Given the description of an element on the screen output the (x, y) to click on. 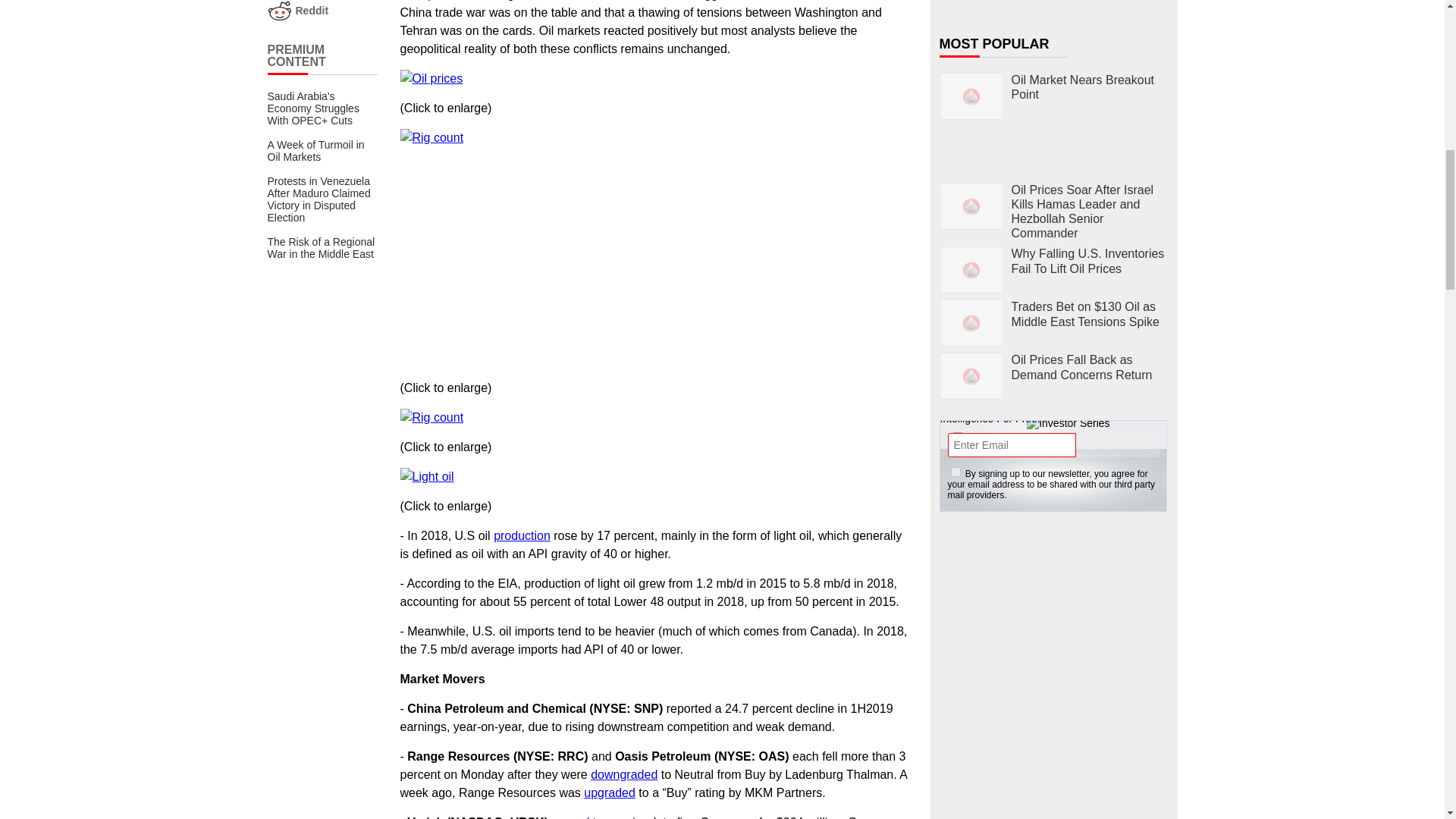
Light oil (427, 476)
1 (955, 471)
Oil prices (431, 78)
Rig count (432, 137)
Rig count (432, 417)
